Given the description of an element on the screen output the (x, y) to click on. 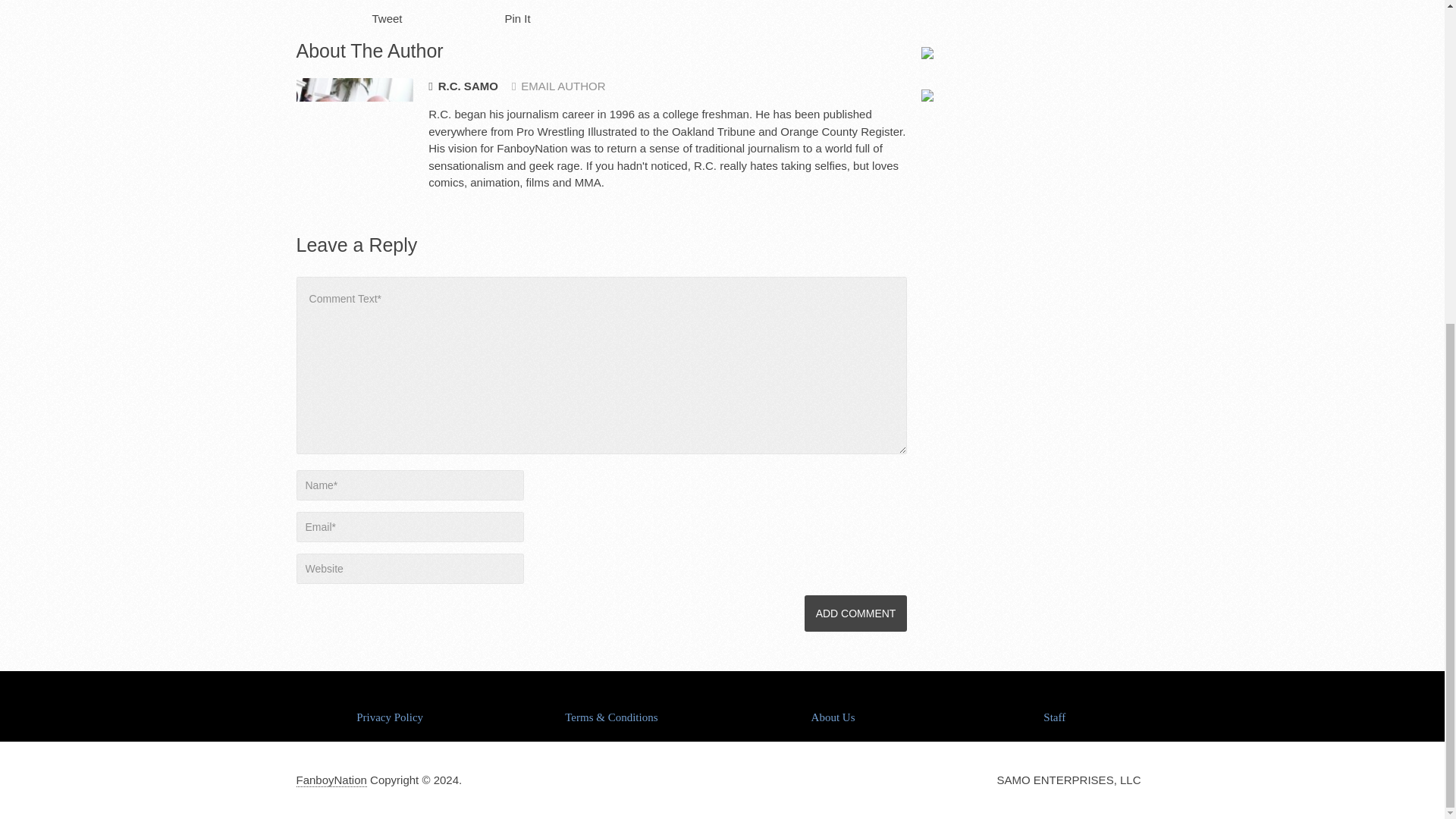
EMAIL AUTHOR (558, 85)
Pin It (518, 18)
Add Comment (856, 613)
R.C. SAMO (462, 86)
Tweet (386, 18)
Privacy Policy (389, 717)
Add Comment (856, 613)
